Given the description of an element on the screen output the (x, y) to click on. 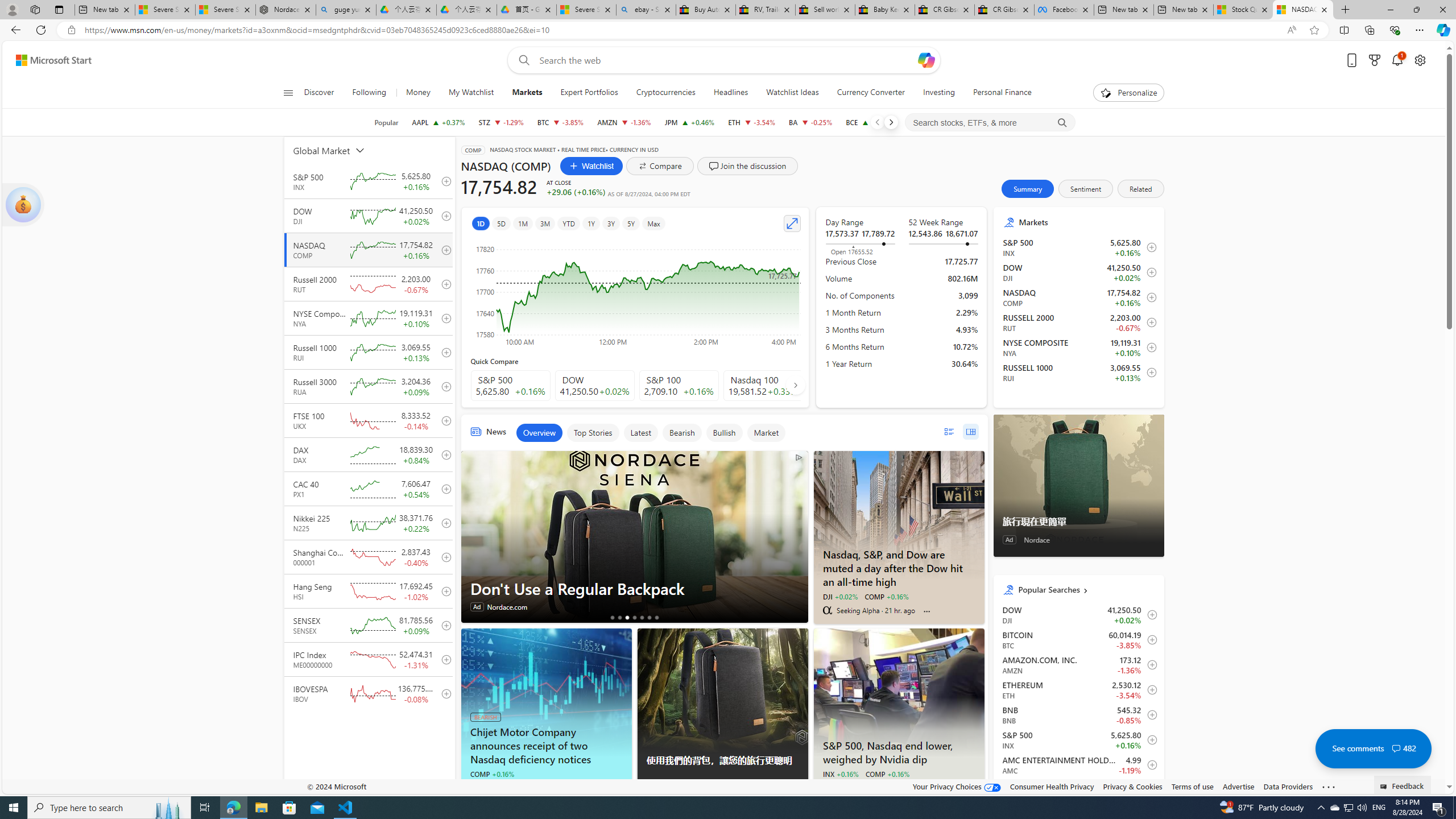
grid layout (970, 431)
Currency Converter (870, 92)
My Watchlist (470, 92)
Personal Finance (1002, 92)
Top Stories (592, 432)
COMP NASDAQ increase 17,754.82 +29.06 +0.16% itemundefined (1078, 297)
BNB BNB decrease 545.32 -4.62 -0.85% itemundefined (1078, 714)
Skip to content (49, 59)
Personal Finance (997, 92)
Compare (660, 166)
